Given the description of an element on the screen output the (x, y) to click on. 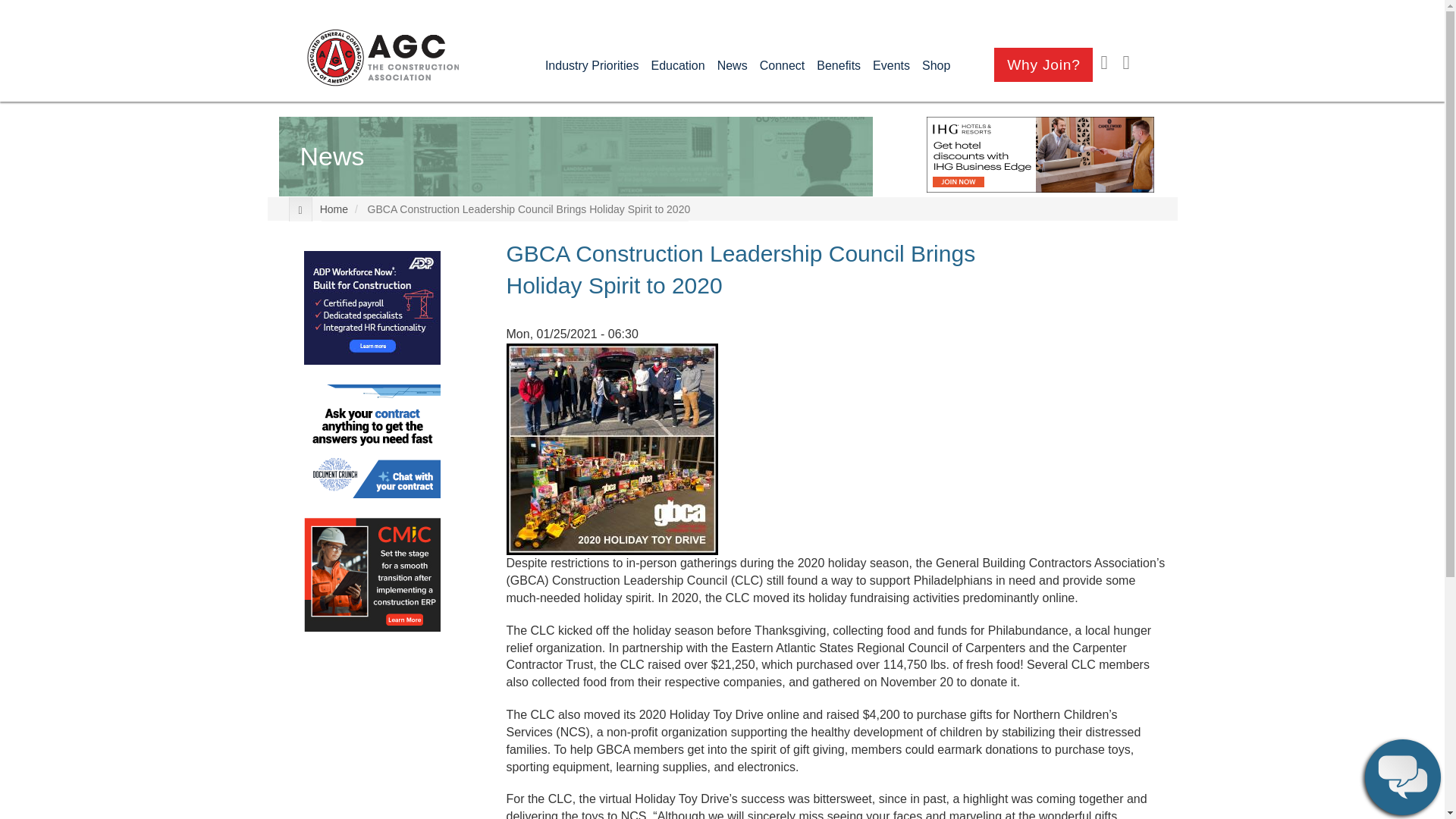
Industry Priorities (591, 65)
Home (382, 57)
Industry Priorities (591, 65)
